Given the description of an element on the screen output the (x, y) to click on. 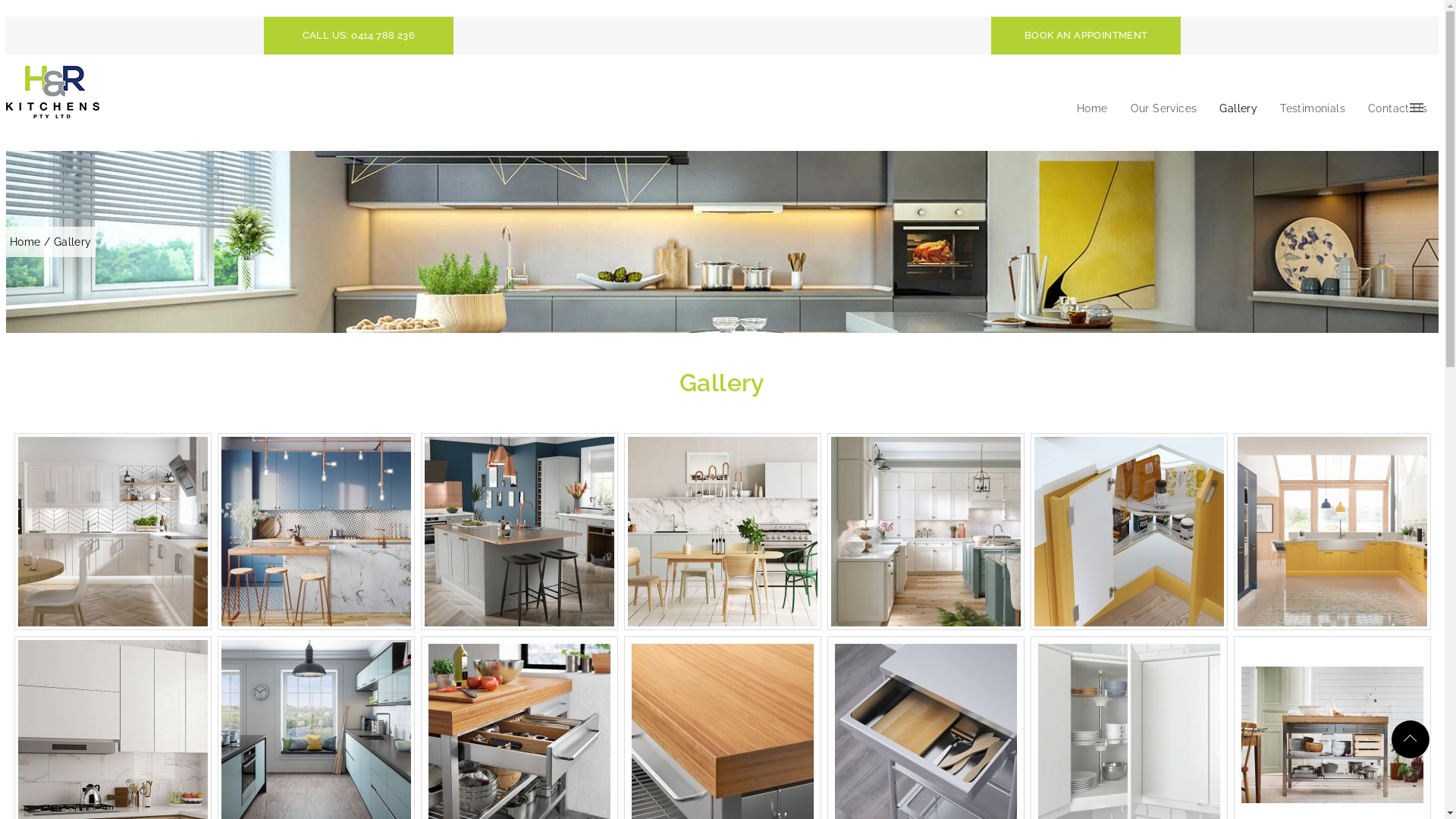
Home Element type: text (1092, 108)
Gallery Element type: text (1238, 108)
Contact Us Element type: text (1397, 108)
CALL US: 0414 788 236 Element type: text (358, 35)
Our Services Element type: text (1163, 108)
Testimonials Element type: text (1312, 108)
BOOK AN APPOINTMENT Element type: text (1085, 35)
Home Element type: text (26, 241)
